Given the description of an element on the screen output the (x, y) to click on. 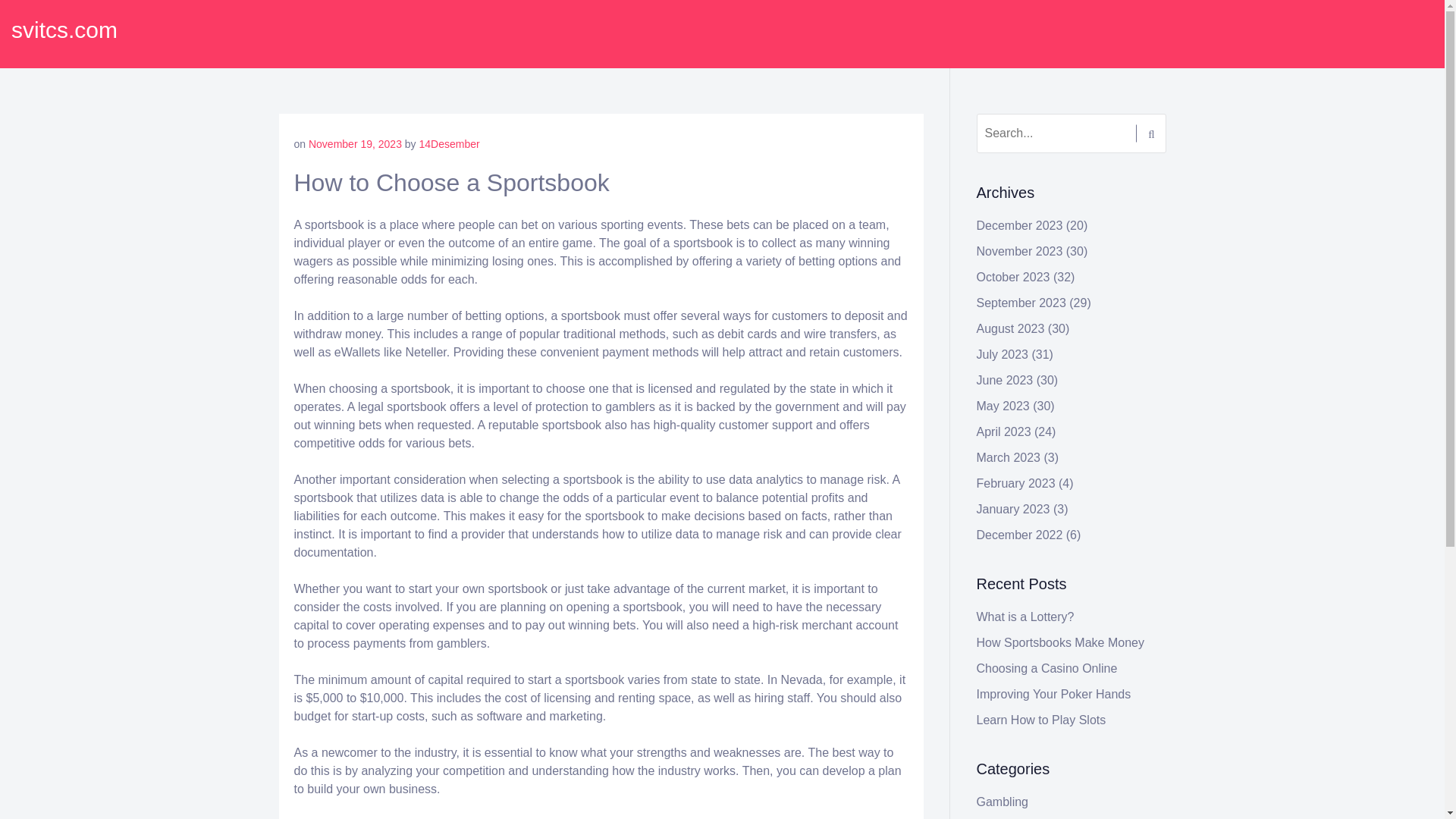
What is a Lottery? (1025, 616)
June 2023 (1004, 379)
September 2023 (1020, 302)
January 2023 (1012, 508)
December 2023 (1019, 225)
How Sportsbooks Make Money (1060, 642)
May 2023 (1002, 405)
Improving Your Poker Hands (1053, 694)
July 2023 (1002, 354)
svitcs.com (64, 29)
Choosing a Casino Online (1047, 667)
November 2023 (1019, 250)
December 2022 (1019, 534)
14Desember (449, 143)
October 2023 (1012, 277)
